Given the description of an element on the screen output the (x, y) to click on. 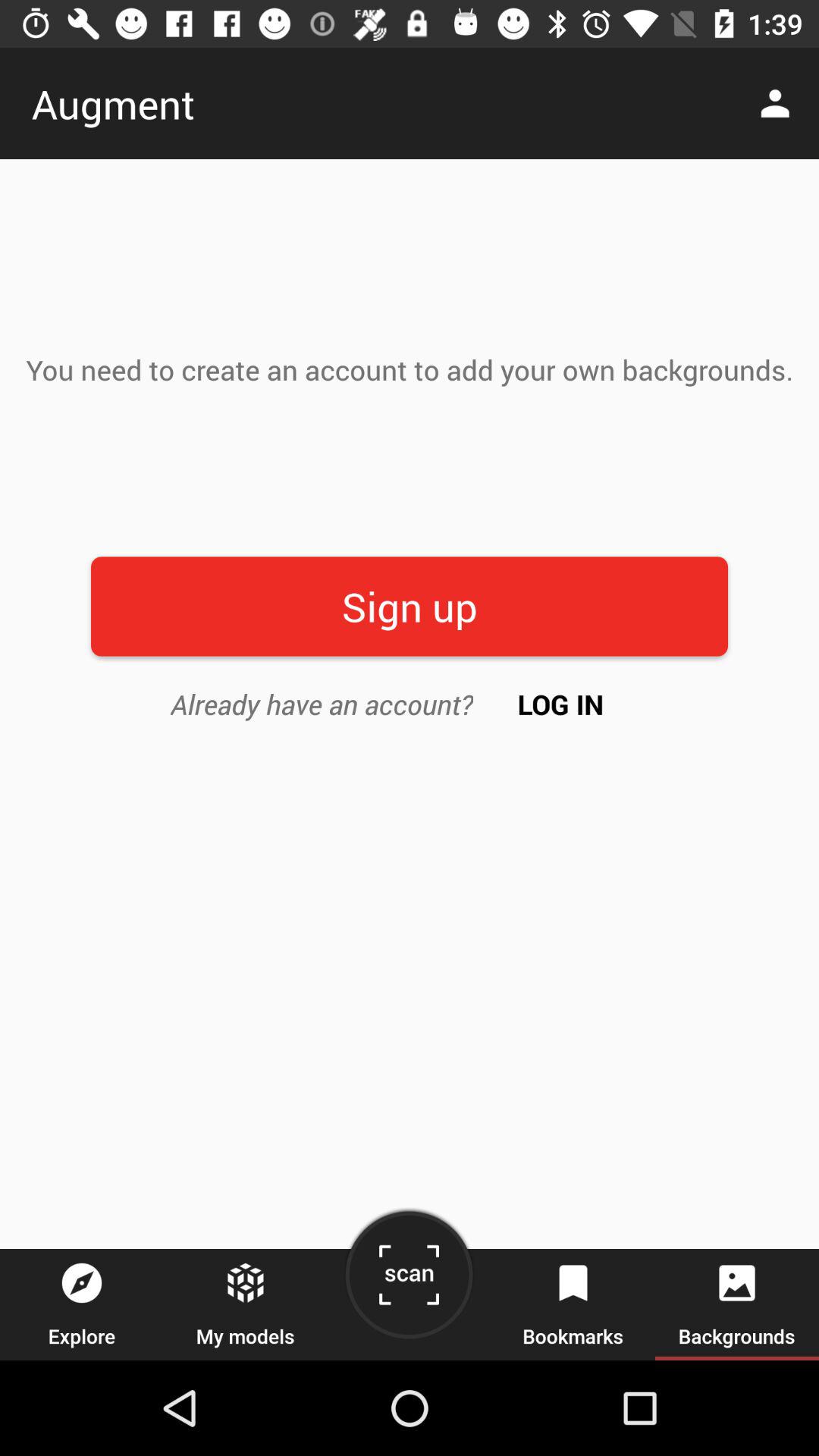
launch item above you need to (779, 103)
